Given the description of an element on the screen output the (x, y) to click on. 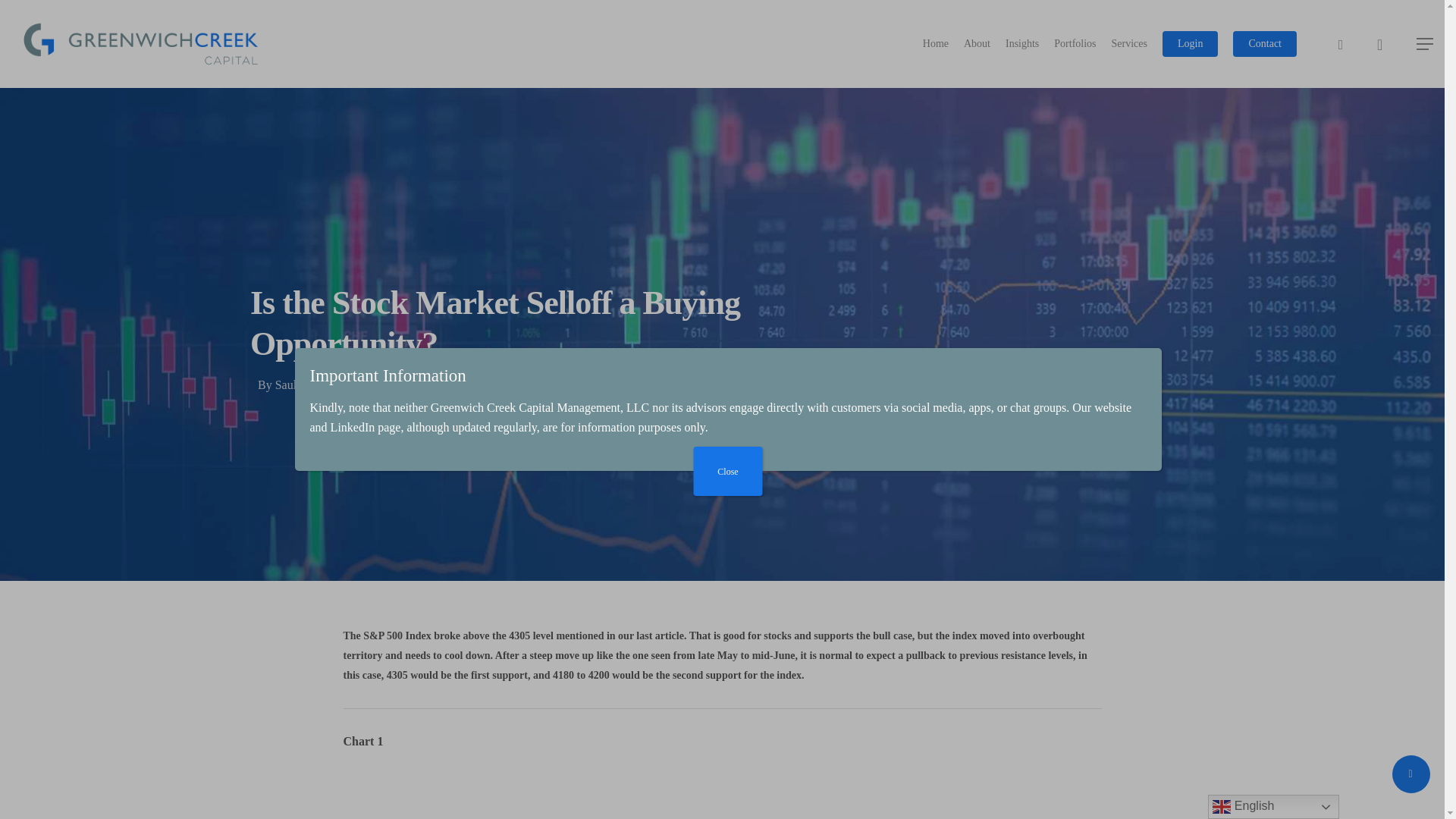
Services (1128, 43)
Saul A. Padilla, RIA (324, 384)
Home (935, 43)
Portfolios (1074, 43)
Market Commentary (518, 384)
About (976, 43)
Login (1189, 43)
Posts by Saul A. Padilla, RIA (324, 384)
Insights (1021, 43)
Contact (1265, 43)
